Given the description of an element on the screen output the (x, y) to click on. 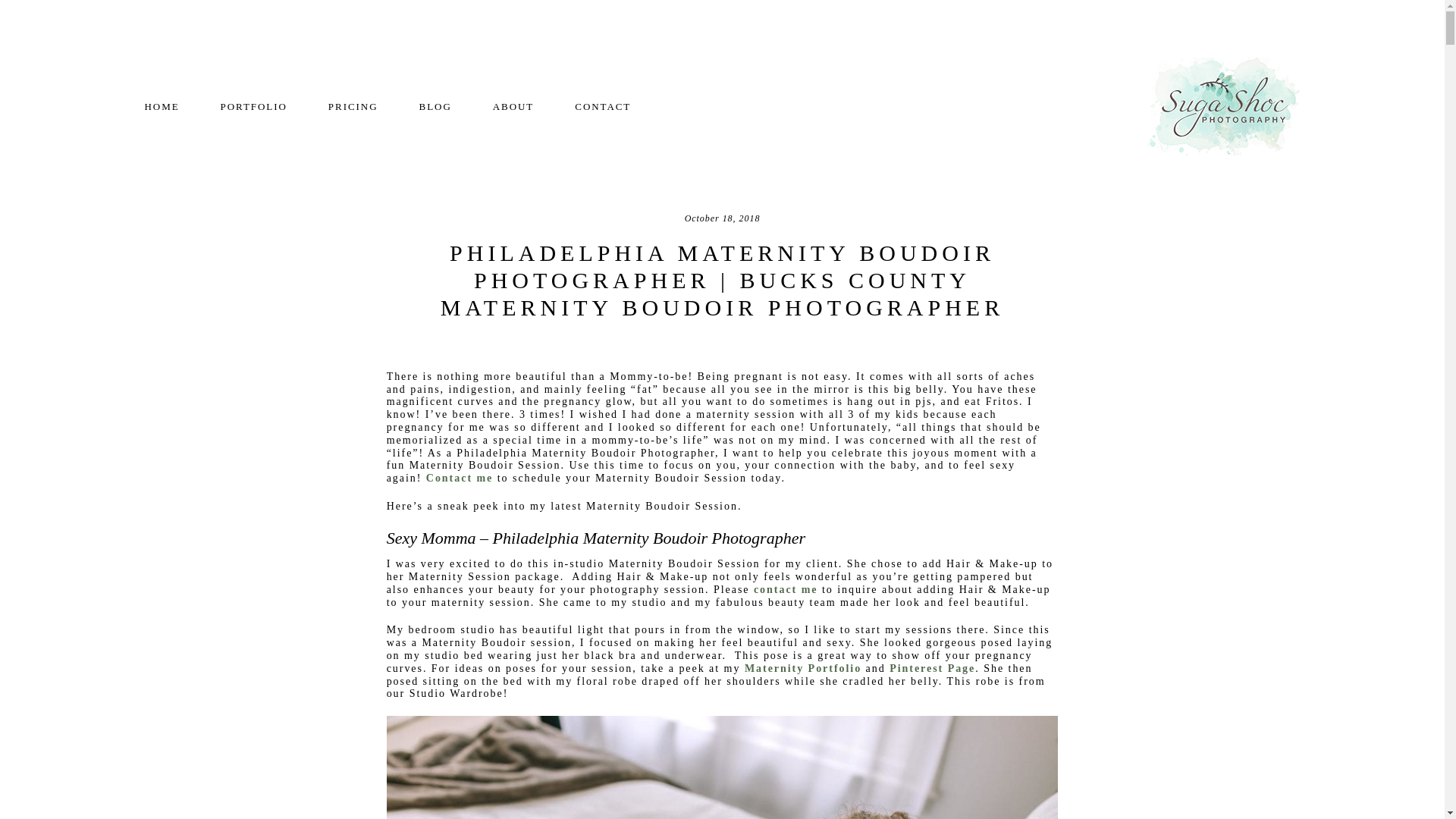
PRICING (353, 106)
BLOG (435, 106)
HOME (161, 106)
